Given the description of an element on the screen output the (x, y) to click on. 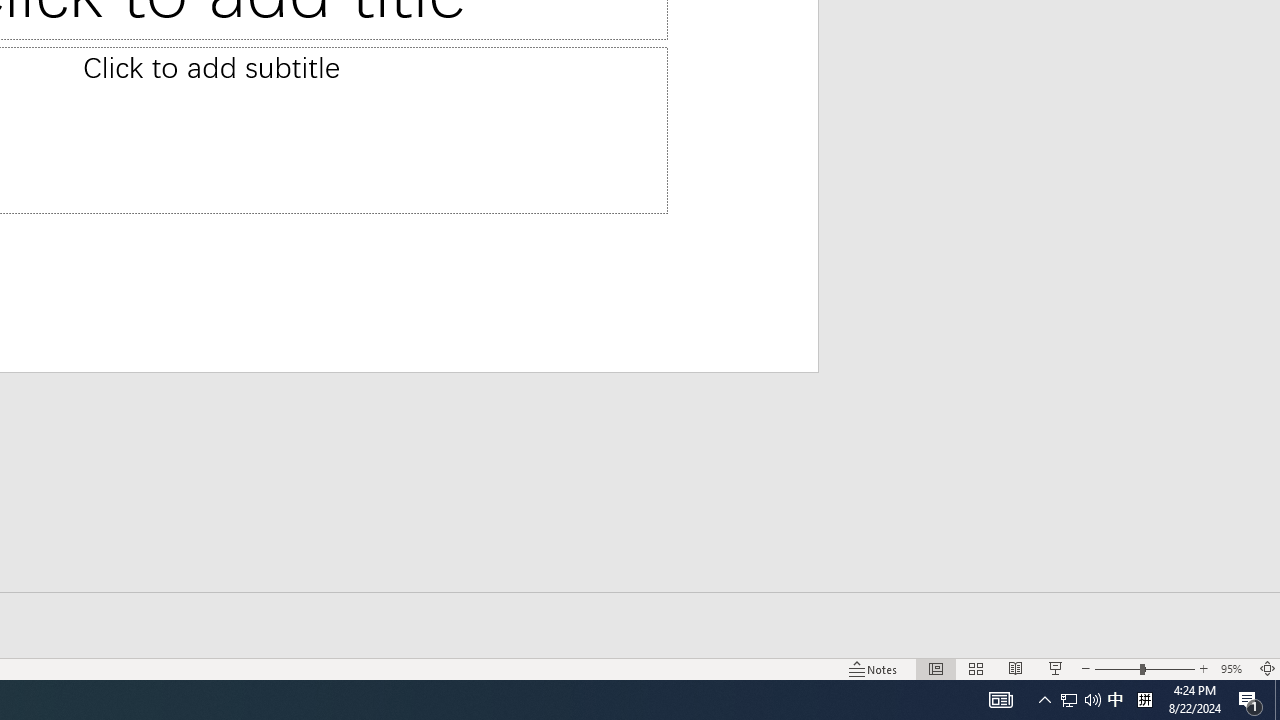
Zoom 95% (1234, 668)
